Given the description of an element on the screen output the (x, y) to click on. 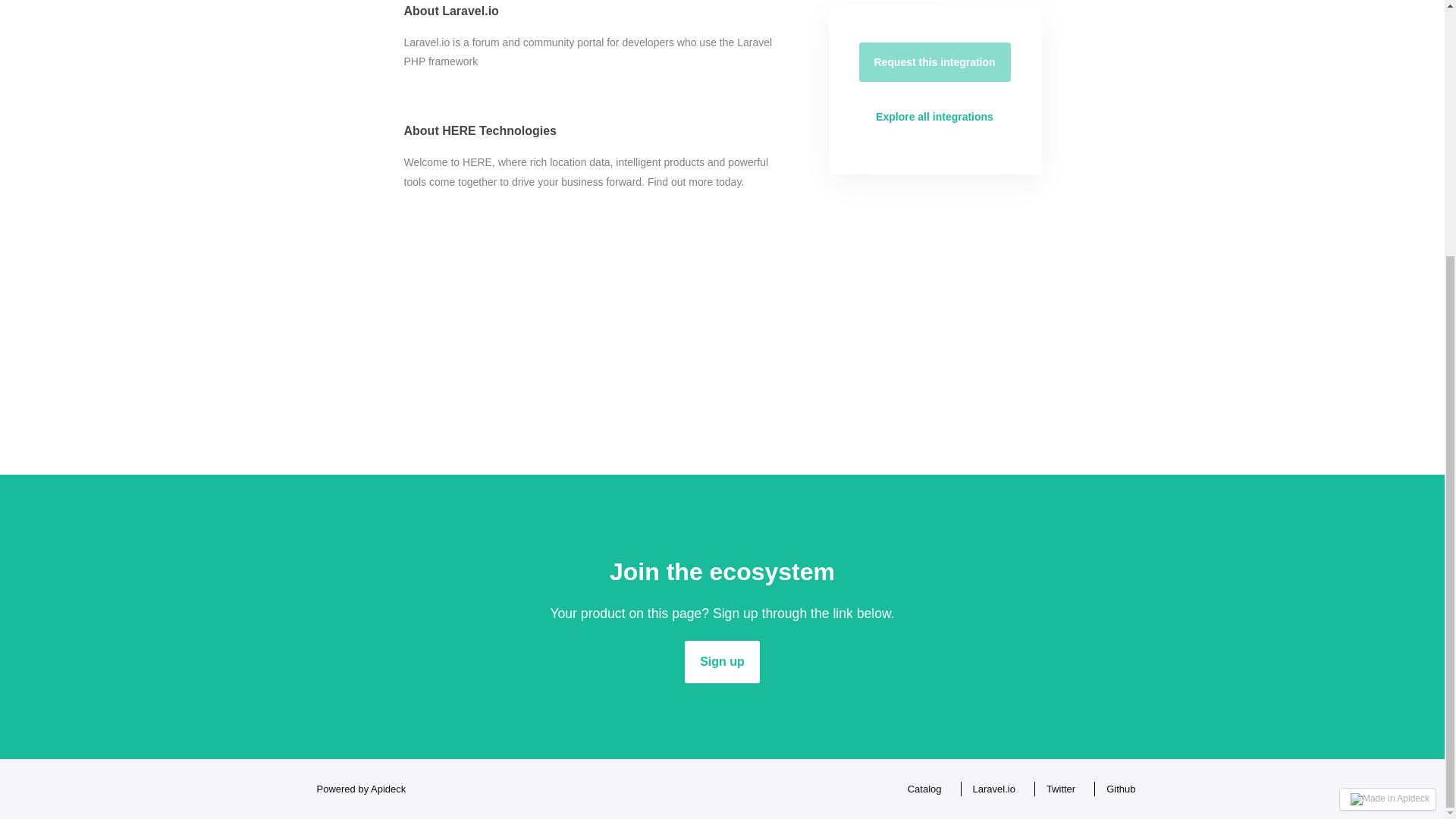
Twitter (1056, 789)
Powered by Apideck (356, 789)
Sign up (722, 661)
Laravel.io (989, 789)
Request this integration (934, 61)
Github (1116, 789)
Catalog (920, 789)
Explore all integrations (934, 116)
